Given the description of an element on the screen output the (x, y) to click on. 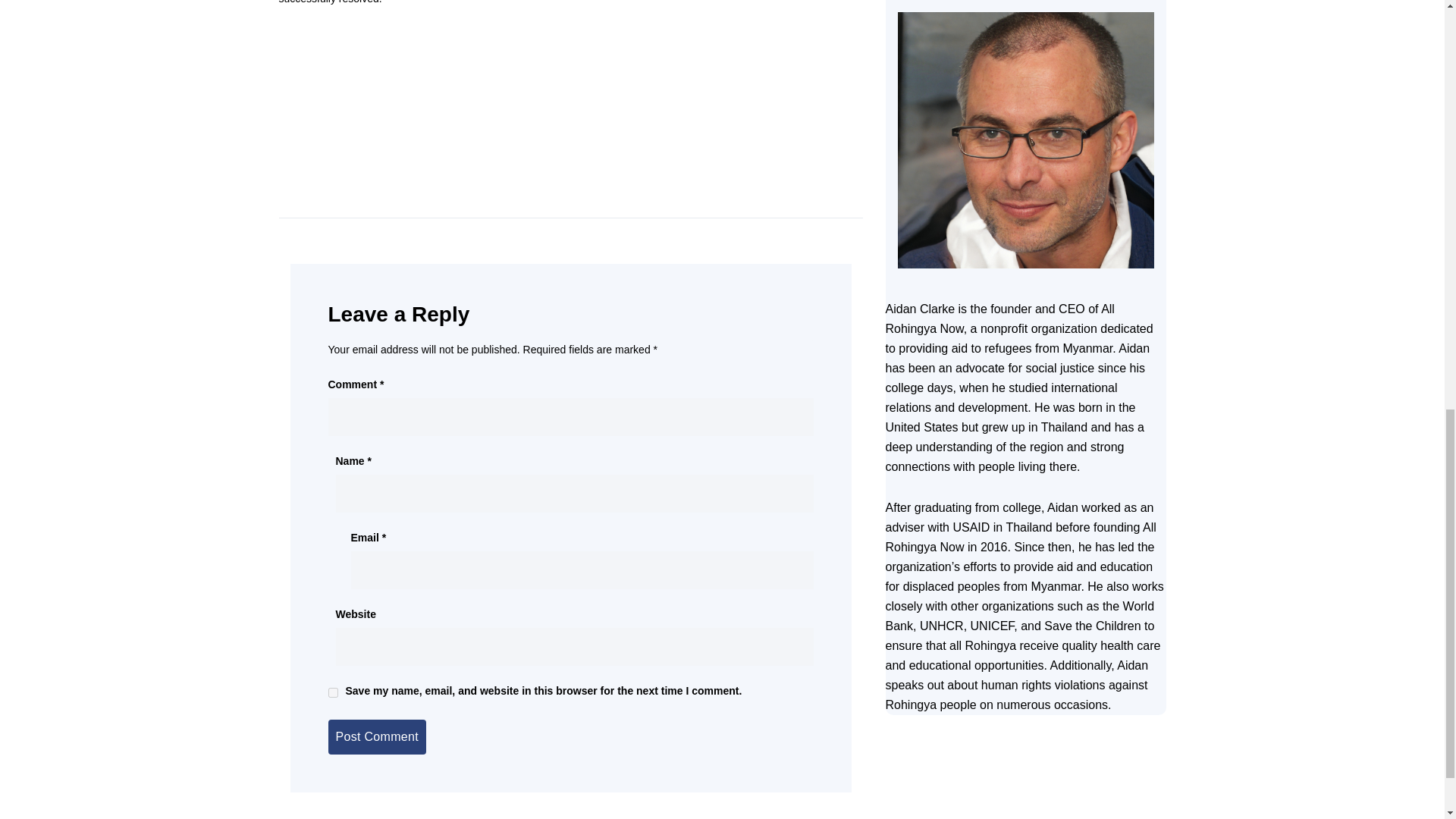
Post Comment (376, 736)
yes (332, 692)
Post Comment (376, 736)
